Given the description of an element on the screen output the (x, y) to click on. 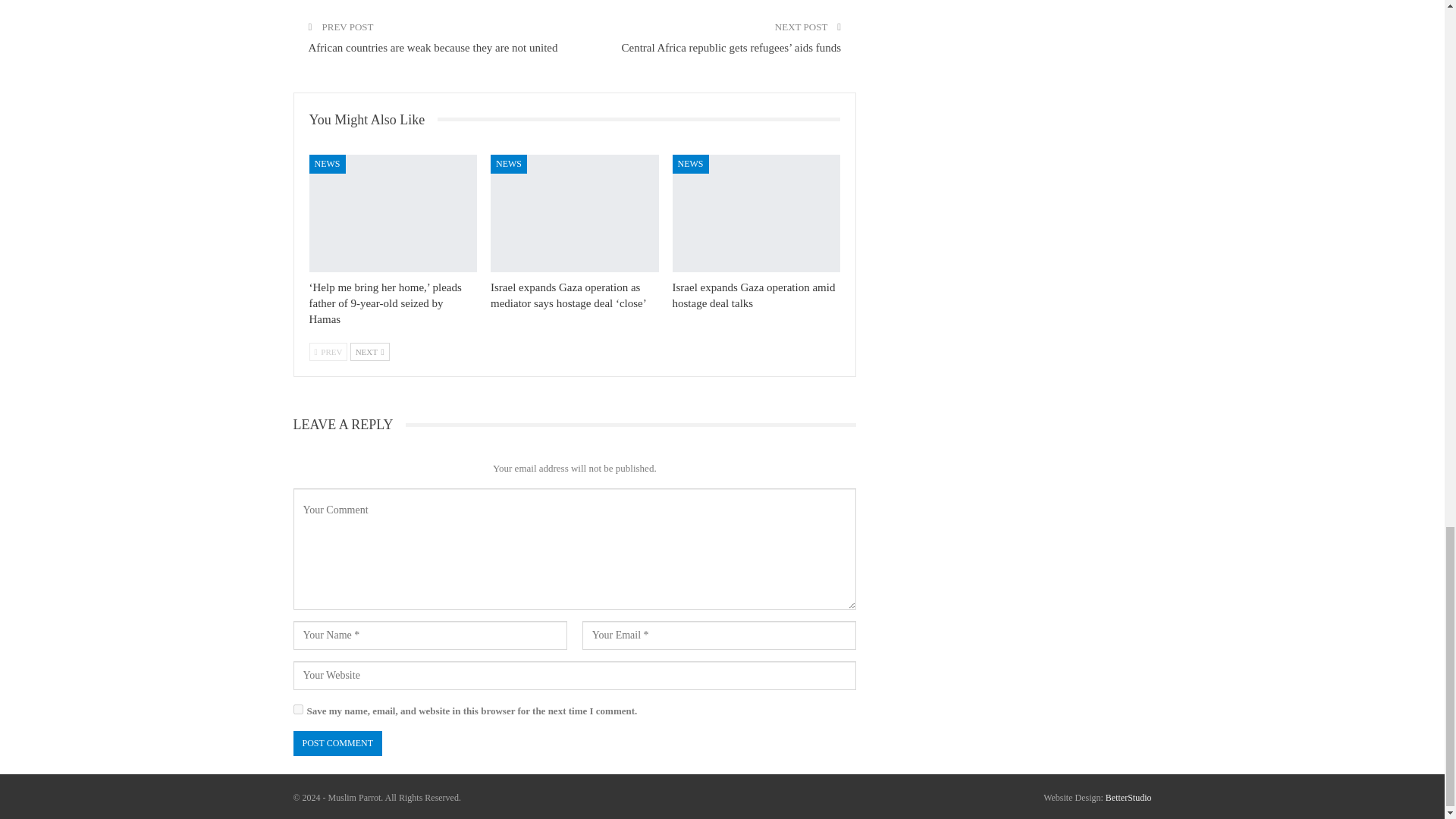
Israel expands Gaza operation amid hostage deal talks (756, 212)
Post Comment (336, 743)
yes (297, 709)
Israel expands Gaza operation amid hostage deal talks (753, 295)
